Given the description of an element on the screen output the (x, y) to click on. 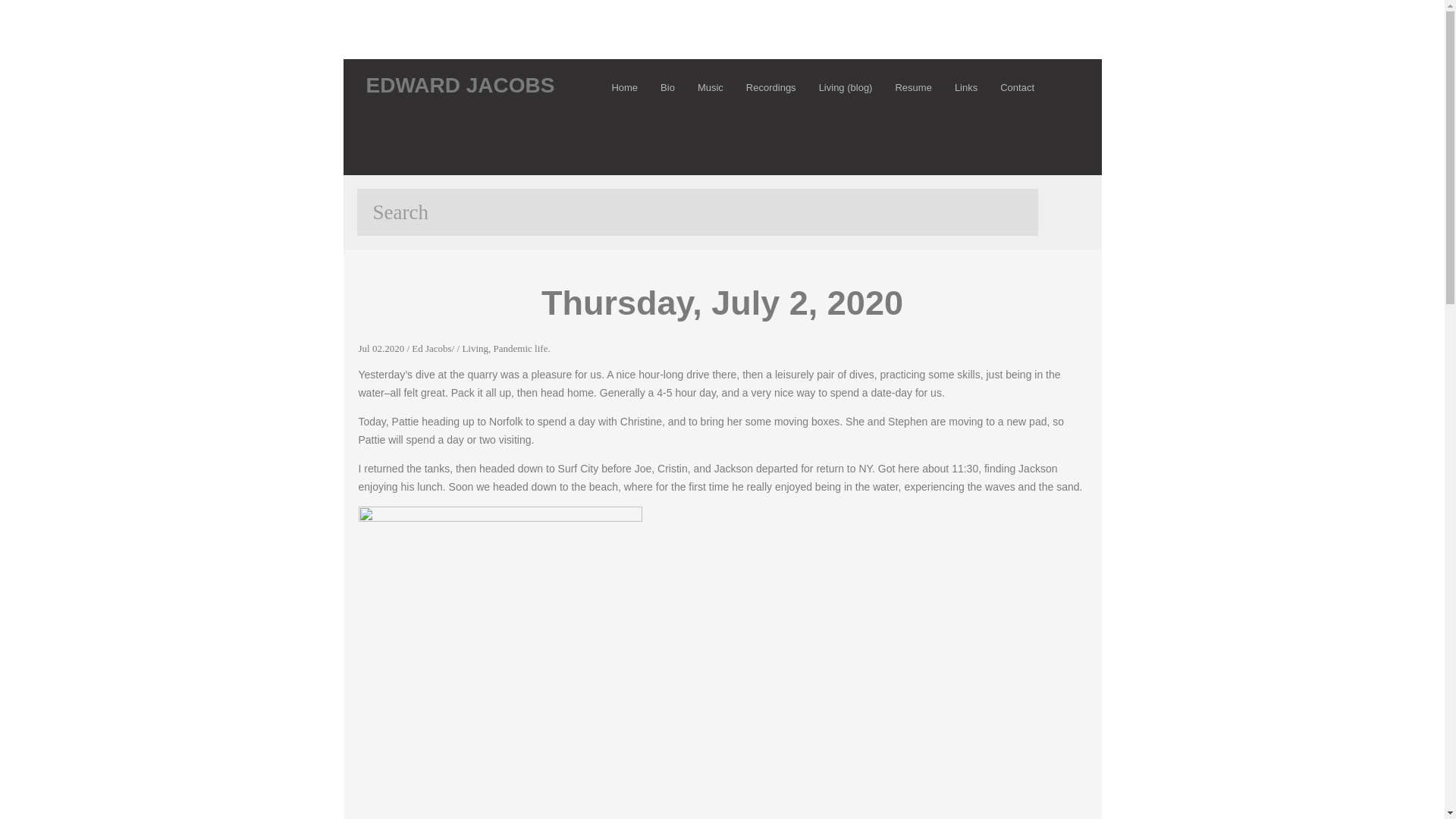
Search (696, 212)
Resume (912, 87)
Posts by Ed Jacobs (431, 348)
Contact (1016, 87)
Recordings (771, 87)
Pandemic life (520, 348)
Living (474, 348)
Ed Jacobs (431, 348)
Search (696, 212)
